Given the description of an element on the screen output the (x, y) to click on. 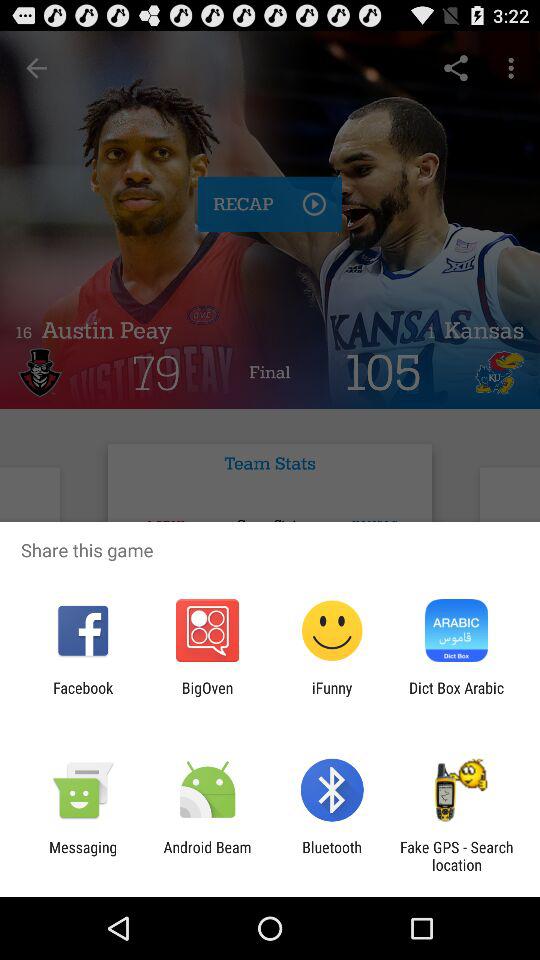
scroll to bluetooth (331, 856)
